Given the description of an element on the screen output the (x, y) to click on. 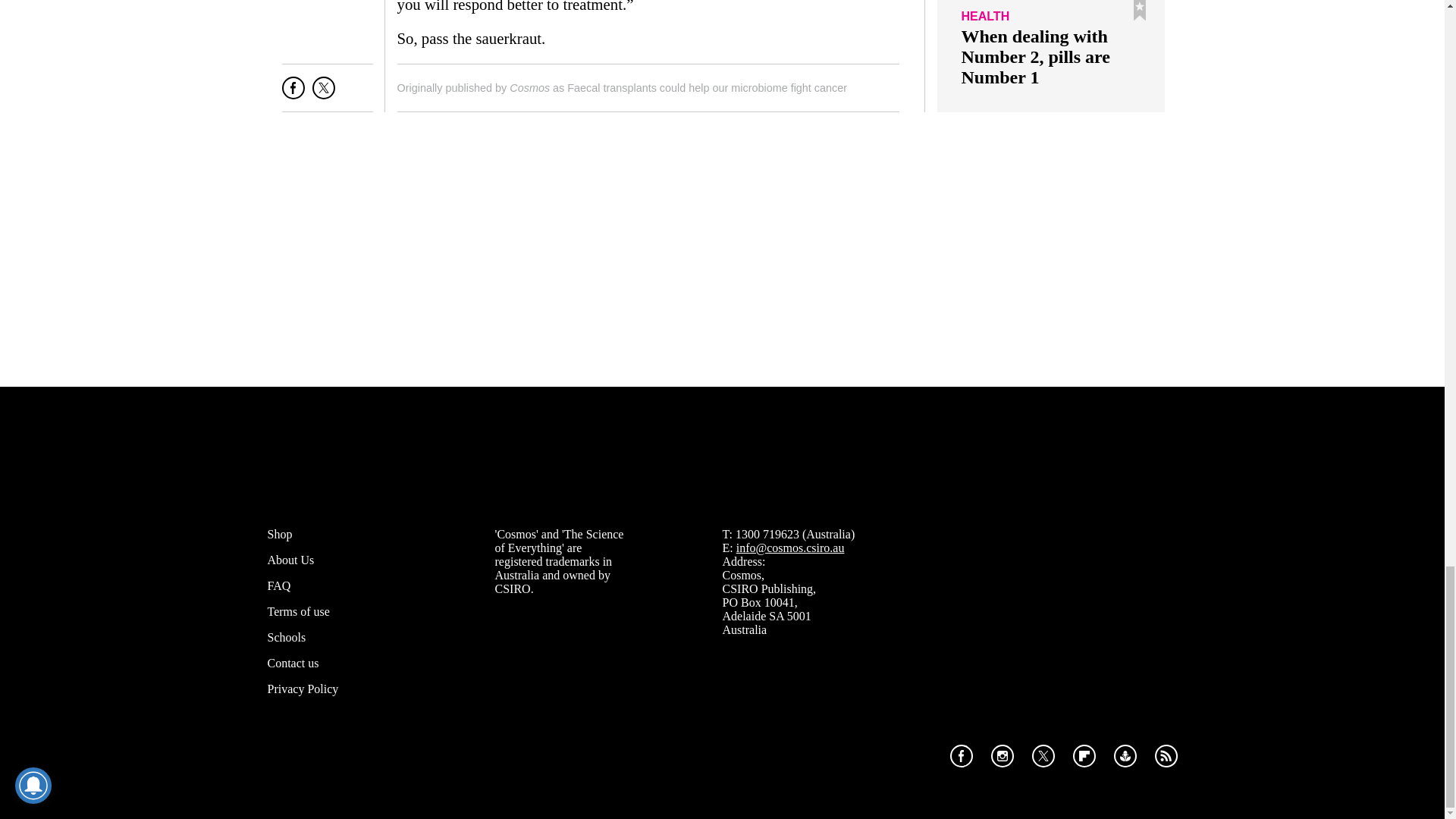
Faecal transplants could help our microbiome fight cancer (707, 87)
Share on Facebook (293, 93)
Tweet (323, 93)
